Given the description of an element on the screen output the (x, y) to click on. 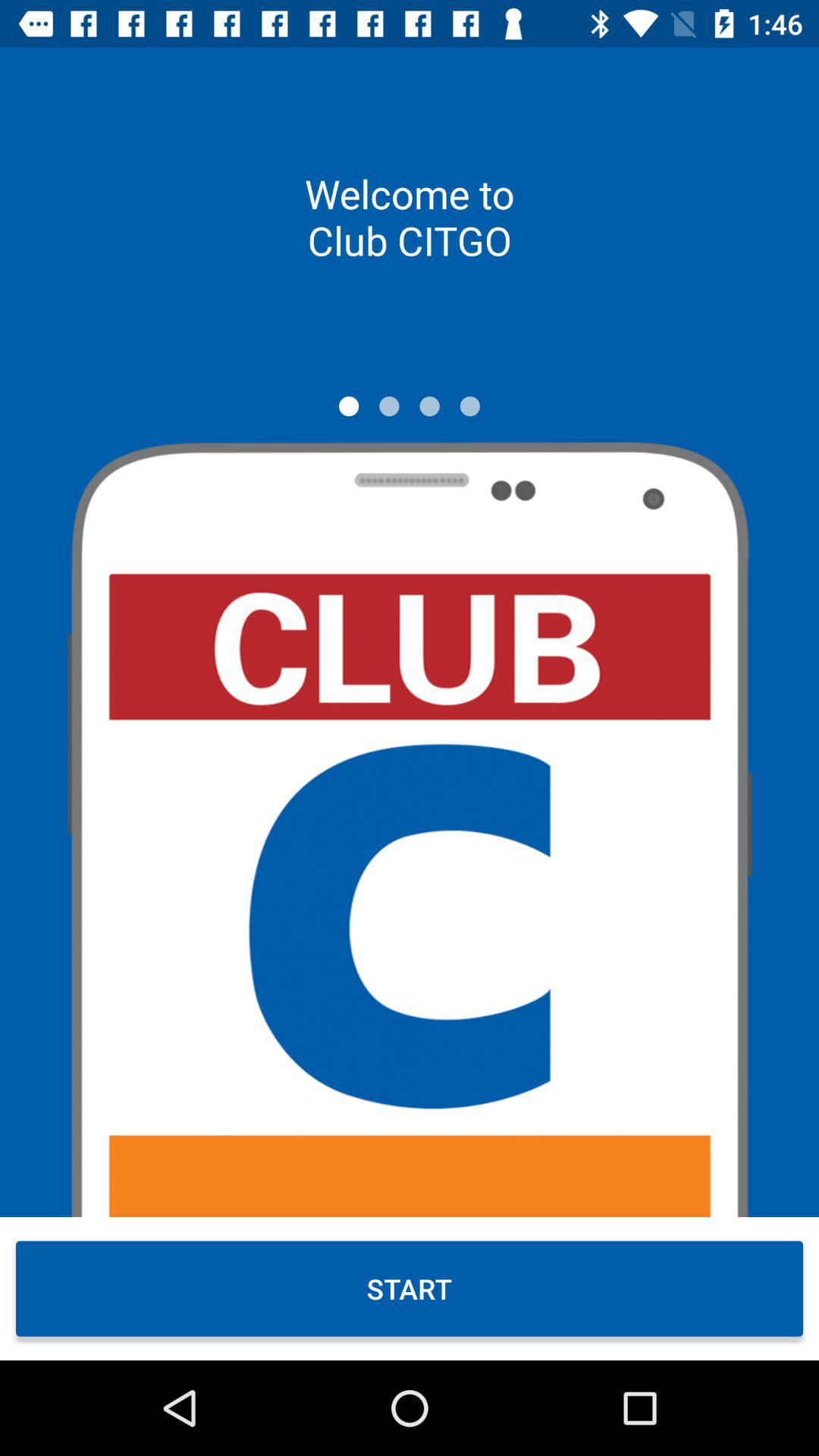
skip to next page (389, 406)
